Given the description of an element on the screen output the (x, y) to click on. 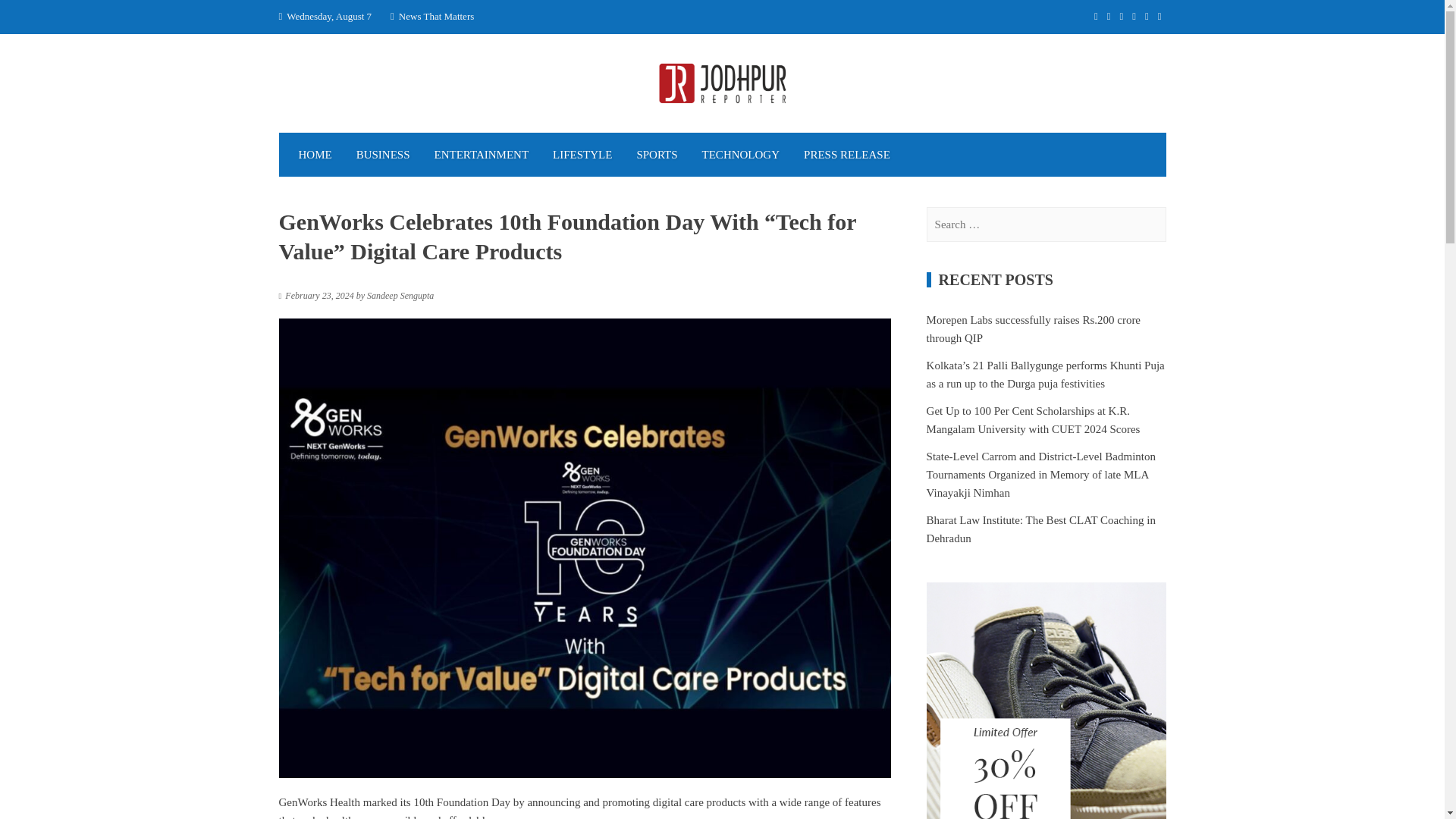
HOME (314, 154)
PRESS RELEASE (847, 154)
TECHNOLOGY (741, 154)
SPORTS (656, 154)
BUSINESS (382, 154)
Bharat Law Institute: The Best CLAT Coaching in Dehradun (1041, 529)
LIFESTYLE (582, 154)
ENTERTAINMENT (481, 154)
Search (30, 16)
Morepen Labs successfully raises Rs.200 crore through QIP (1033, 328)
